Given the description of an element on the screen output the (x, y) to click on. 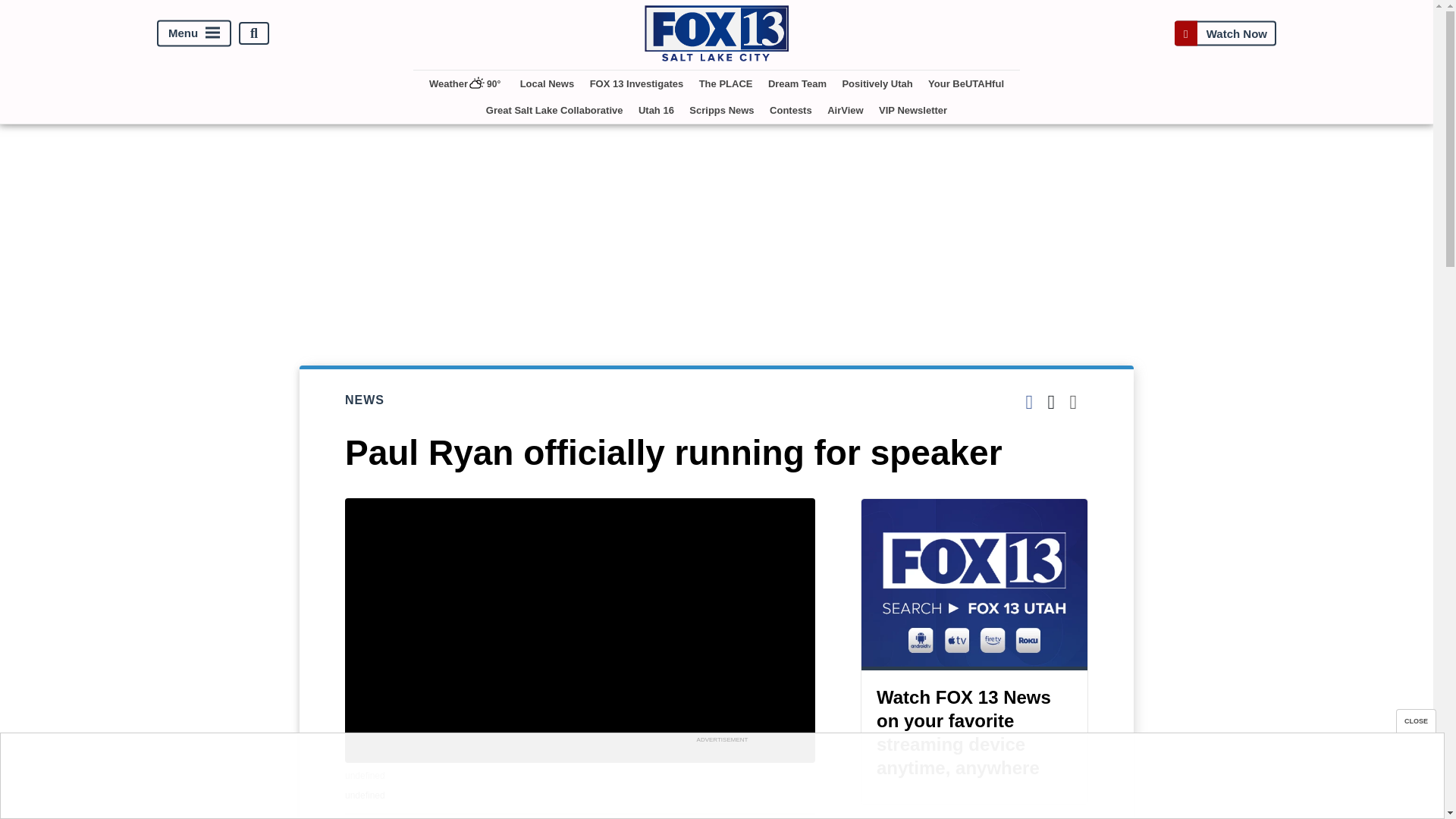
Menu (194, 33)
3rd party ad content (721, 780)
Watch Now (1224, 33)
